Given the description of an element on the screen output the (x, y) to click on. 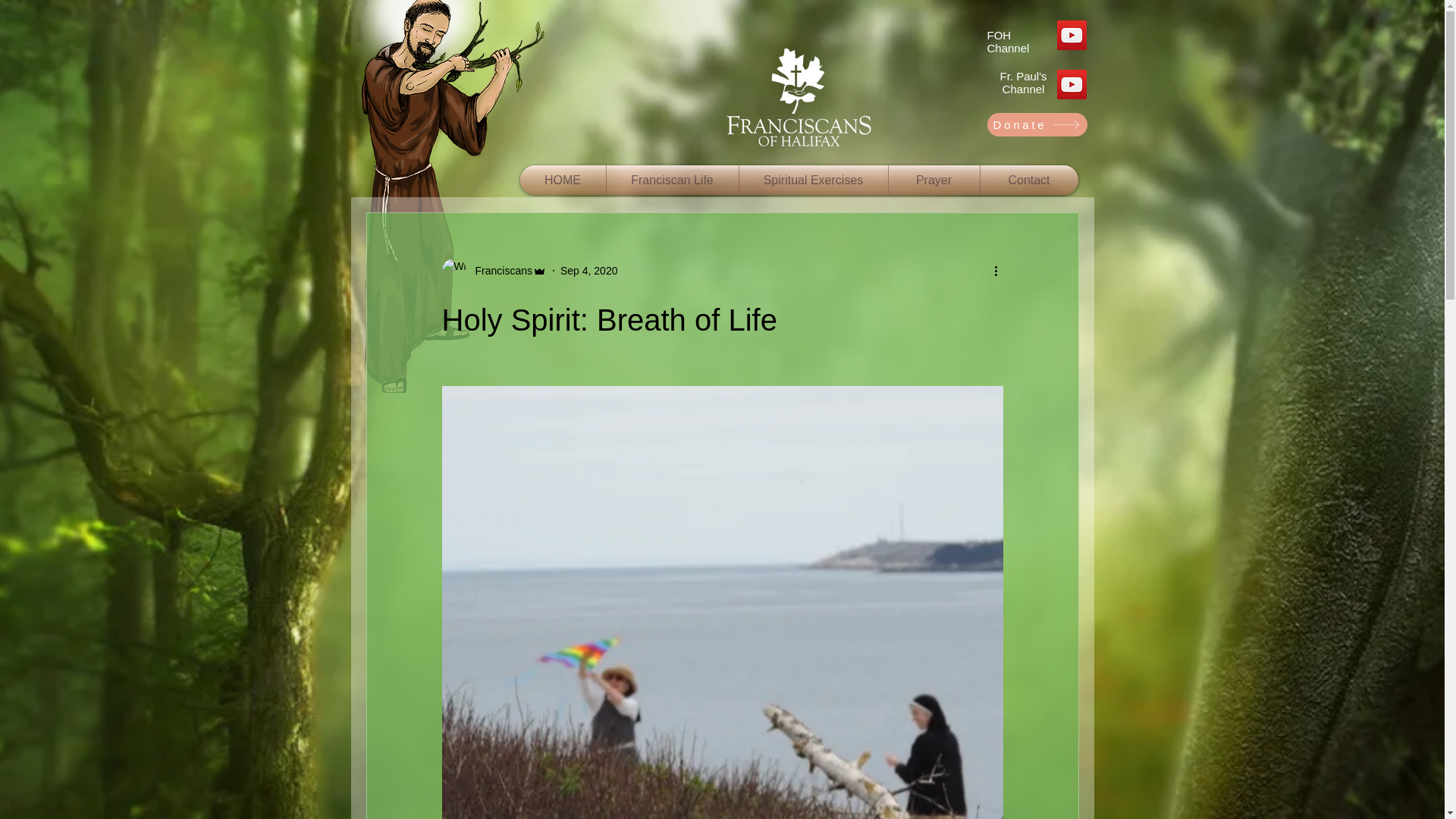
Fr. Paul's (1022, 75)
Donate (1037, 124)
Channel (1024, 88)
Franciscan Life (672, 179)
Franciscans (498, 270)
Contact (1028, 179)
Spiritual Exercises (812, 179)
Prayer (933, 179)
Sep 4, 2020 (588, 269)
HOME (562, 179)
